Given the description of an element on the screen output the (x, y) to click on. 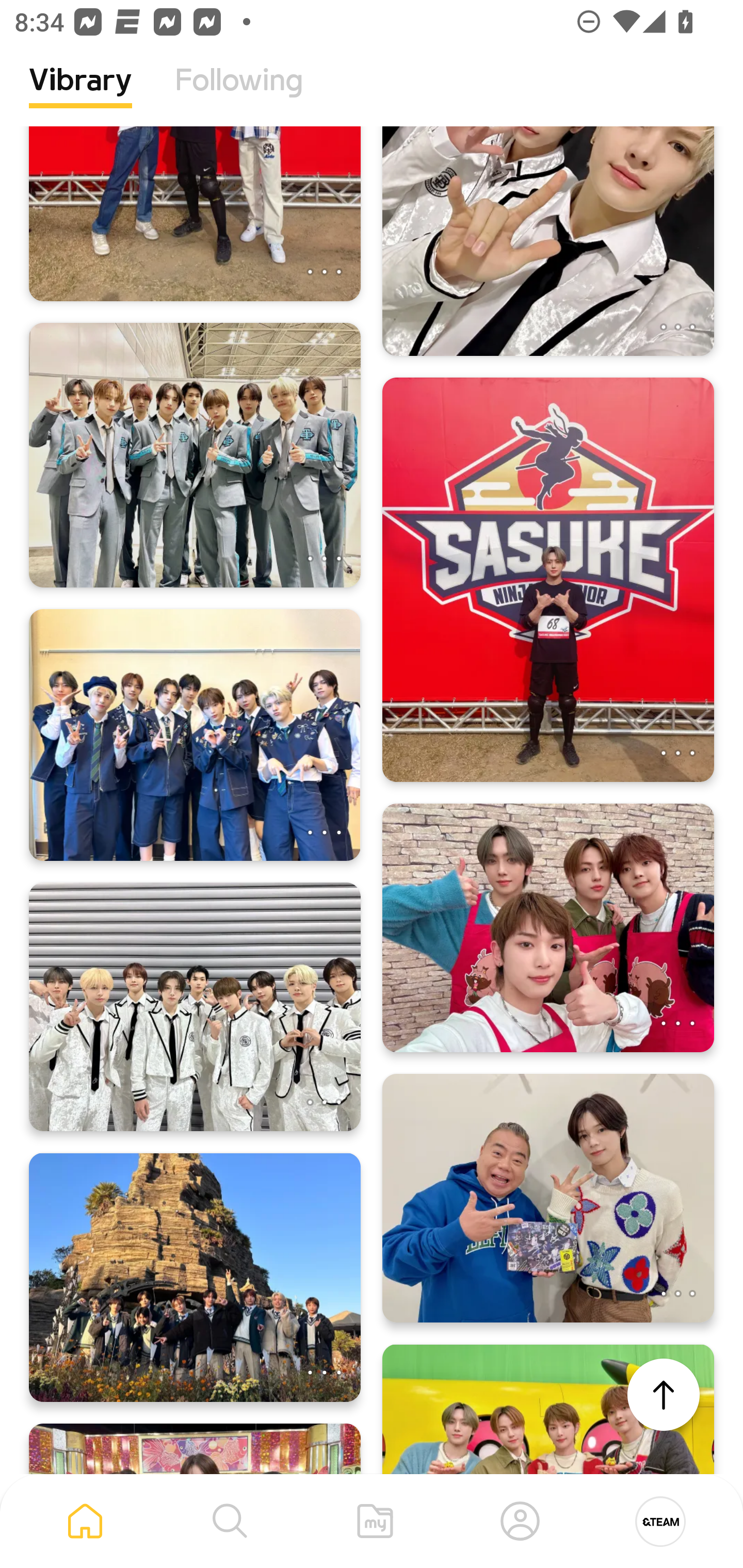
Vibrary (80, 95)
Following (239, 95)
